Given the description of an element on the screen output the (x, y) to click on. 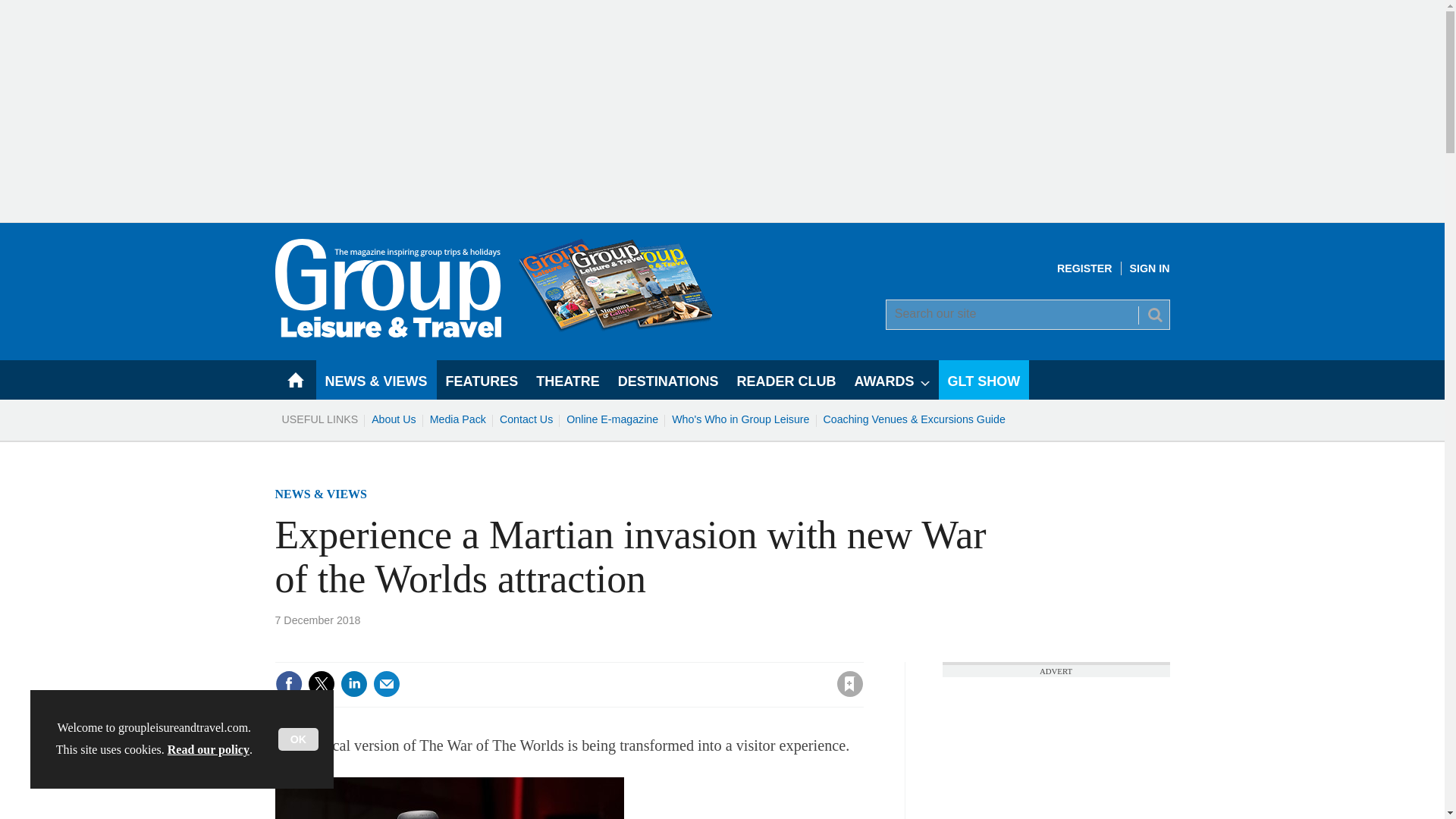
THEATRE (567, 379)
OK (298, 739)
REGISTER (1084, 268)
Share this on Facebook (288, 683)
Email this article (386, 683)
Online E-magazine (612, 419)
SEARCH (1153, 314)
Contact Us (526, 419)
HOME (295, 379)
Who's Who in Group Leisure (740, 419)
Media Pack (458, 419)
FEATURES (481, 379)
3rd party ad content (1055, 748)
Share this on LinkedIn (352, 683)
Read our policy (207, 748)
